Given the description of an element on the screen output the (x, y) to click on. 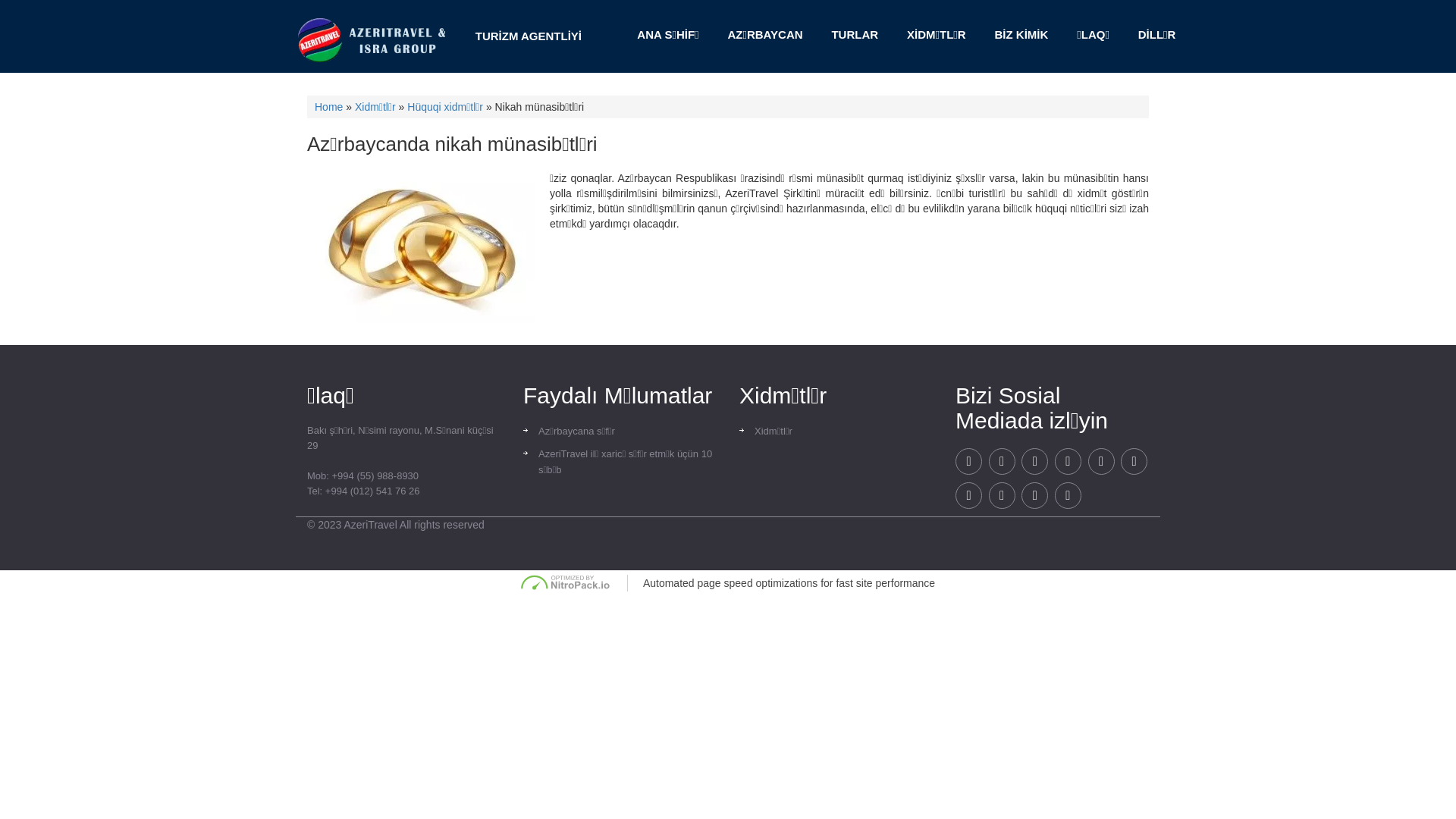
Instagram Element type: hover (1133, 461)
TURLAR Element type: text (854, 34)
Home Element type: text (328, 106)
Twitter Element type: hover (1034, 461)
Google Element type: hover (968, 461)
Vk Element type: hover (1067, 495)
Youtube Element type: hover (1001, 495)
BIZ KIMIK Element type: text (1021, 34)
Facebook Element type: hover (1067, 461)
Pinterest Element type: hover (1001, 461)
Flickr Element type: hover (1034, 495)
Tumblr Element type: hover (968, 495)
Linkedin Element type: hover (1100, 461)
